Given the description of an element on the screen output the (x, y) to click on. 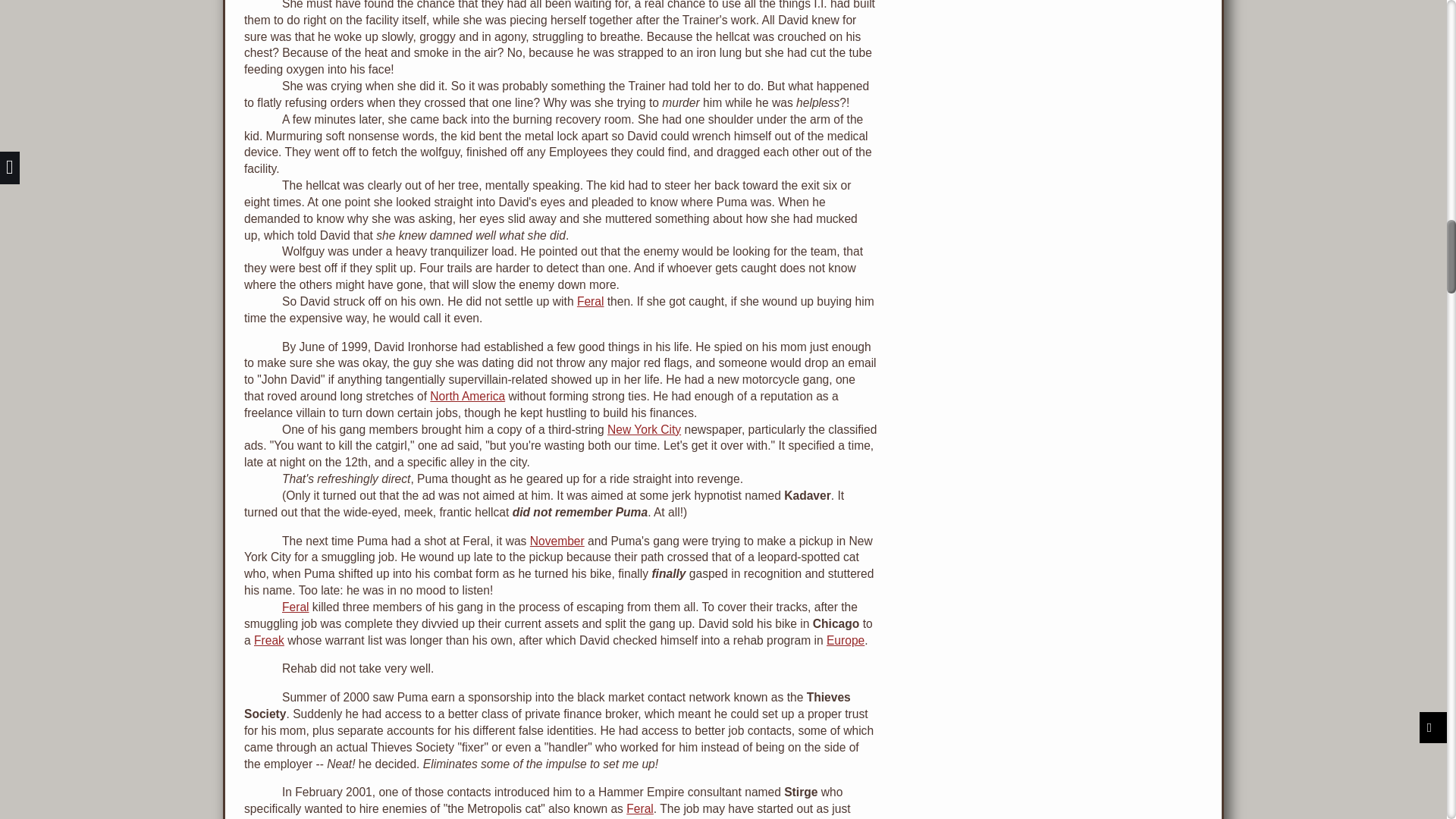
Freak (268, 640)
Feral (295, 606)
Feral (639, 808)
North America (467, 395)
November (557, 540)
Feral (590, 300)
Europe (845, 640)
New York City (644, 429)
